Given the description of an element on the screen output the (x, y) to click on. 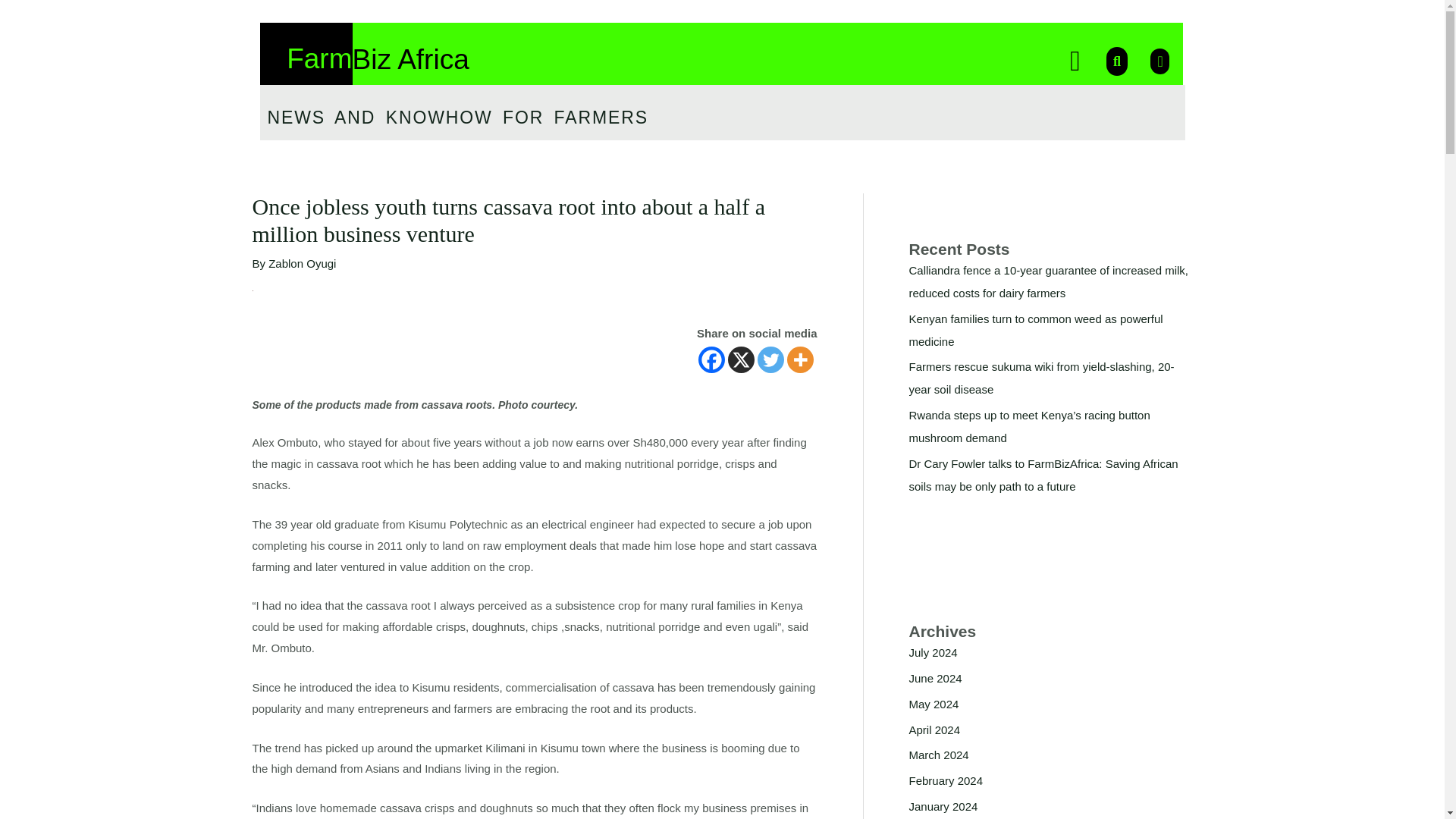
Zablon Oyugi (301, 263)
Twitter (770, 359)
X (741, 359)
More (800, 359)
Kenyan families turn to common weed as powerful medicine (1034, 330)
Biz Africa (410, 59)
Facebook (711, 359)
View all posts by Zablon Oyugi (301, 263)
Farm (319, 58)
